Given the description of an element on the screen output the (x, y) to click on. 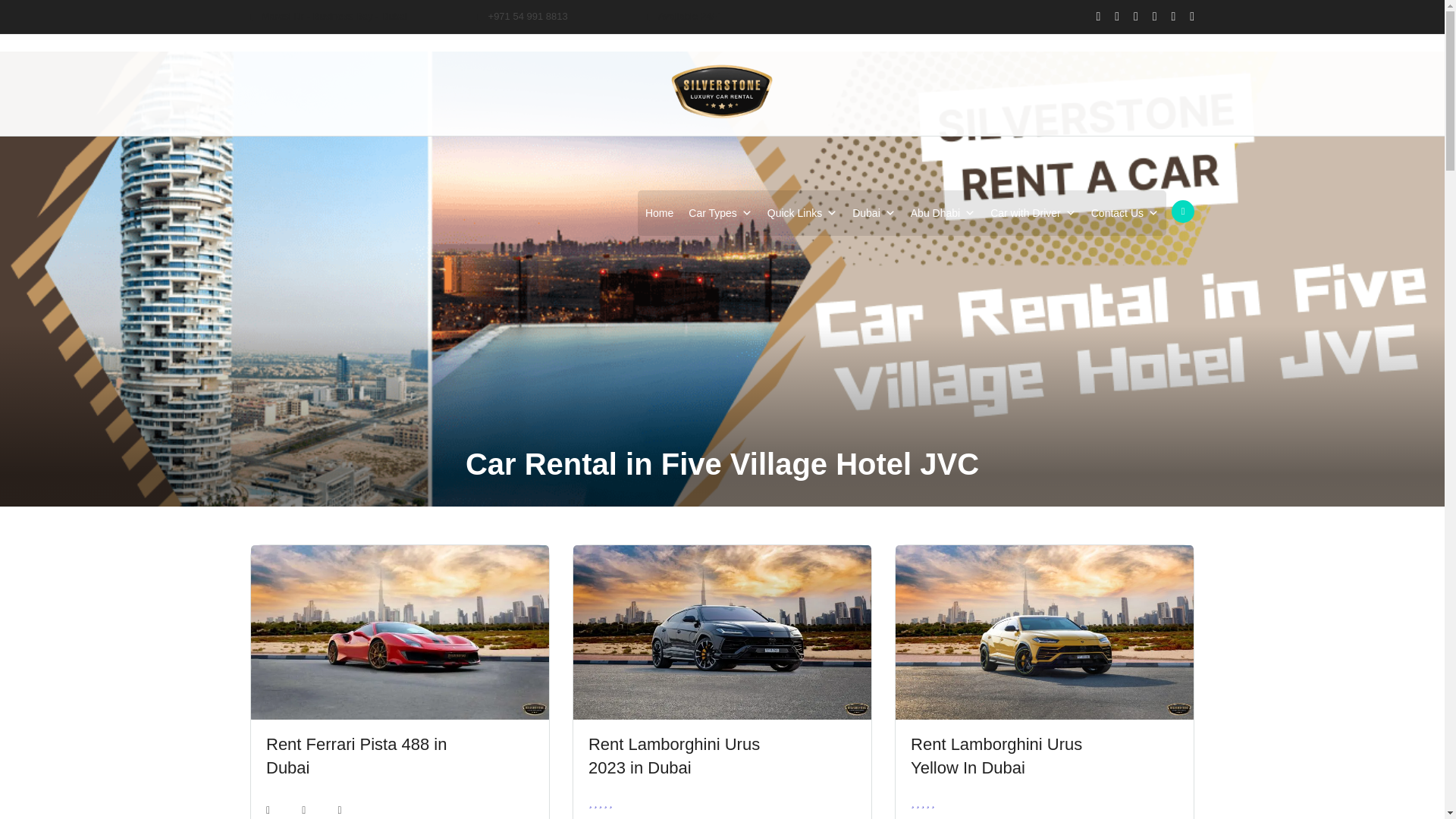
View Cart (1182, 210)
